Given the description of an element on the screen output the (x, y) to click on. 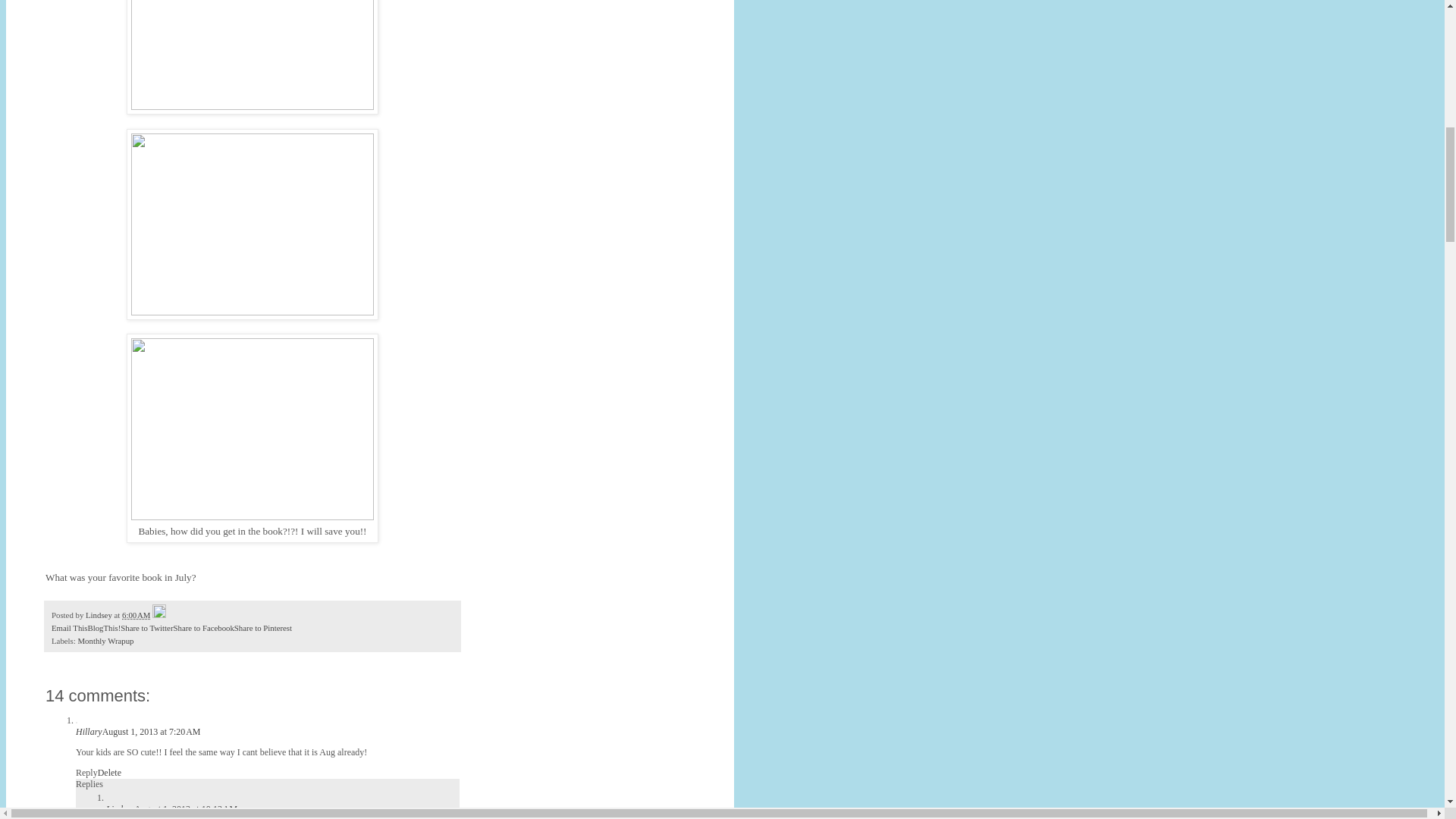
Email This (68, 627)
Monthly Wrapup (105, 640)
Share to Facebook (202, 627)
Lindsey (100, 614)
Reply (86, 772)
Lindsey (119, 808)
Email This (68, 627)
BlogThis! (103, 627)
Edit Post (158, 614)
Share to Twitter (146, 627)
Share to Facebook (202, 627)
Share to Pinterest (263, 627)
